Given the description of an element on the screen output the (x, y) to click on. 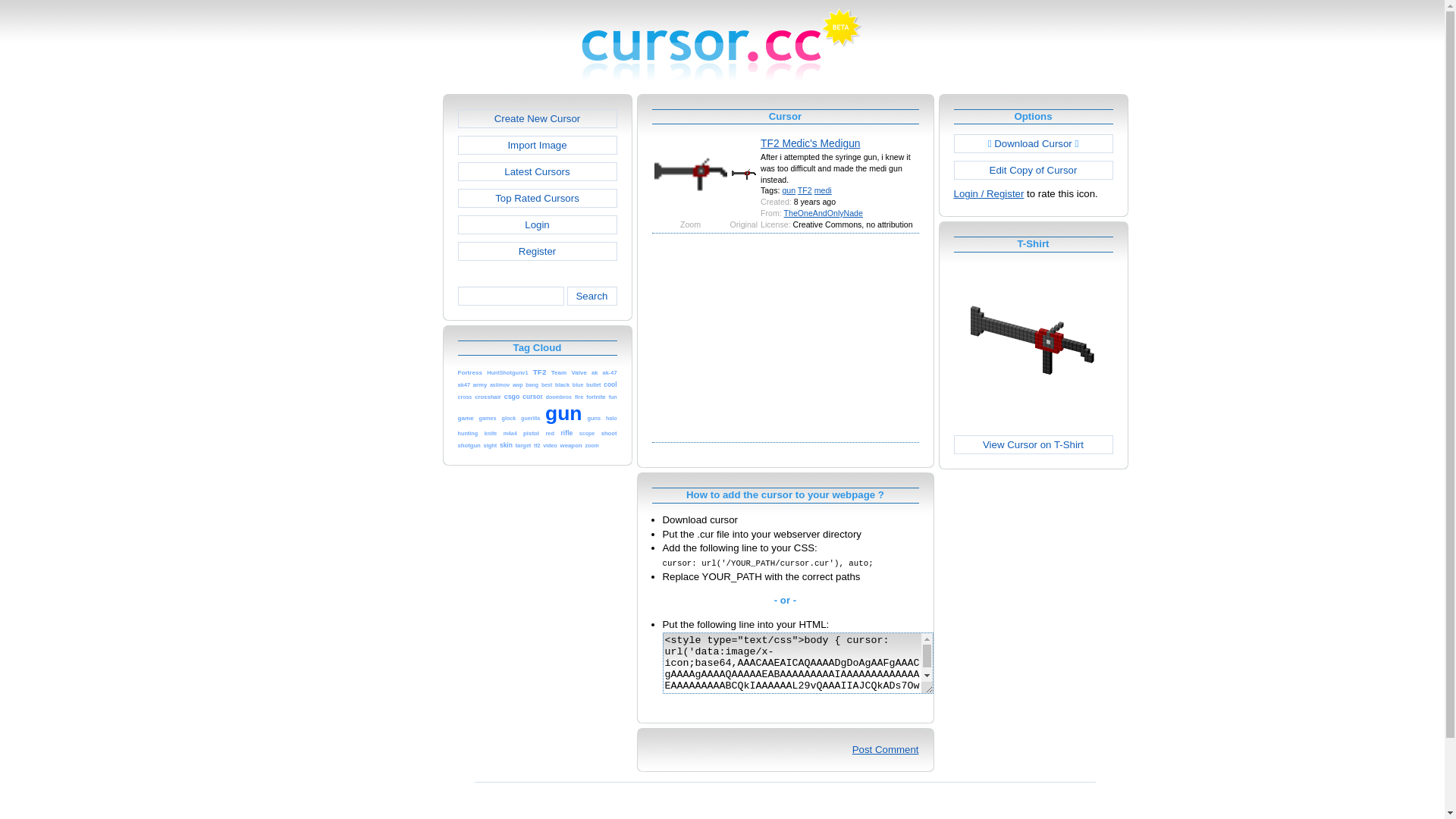
skin Element type: text (505, 443)
pistol Element type: text (531, 431)
HuntShotgunv1 Element type: text (506, 370)
m4a4 Element type: text (510, 431)
ak-47 Element type: text (609, 370)
red Element type: text (549, 431)
Import Image Element type: text (537, 144)
hunting Element type: text (468, 431)
TheOneAndOnlyNade Element type: text (823, 212)
rifle Element type: text (567, 431)
glock Element type: text (509, 416)
Team Element type: text (559, 370)
Search Element type: text (592, 295)
tf2 Element type: text (536, 443)
army Element type: text (479, 383)
shoot Element type: text (609, 431)
Fortress Element type: text (470, 370)
Login / Register Element type: text (988, 193)
scope Element type: text (586, 431)
Login Element type: text (537, 224)
fun Element type: text (612, 395)
weapon Element type: text (571, 443)
shotgun Element type: text (469, 443)
TF2 Element type: text (539, 370)
games Element type: text (487, 416)
asiimov Element type: text (499, 383)
fortnite Element type: text (595, 395)
Post Comment Element type: text (885, 749)
Advertisement Element type: hover (377, 321)
awp Element type: text (517, 383)
bullet Element type: text (593, 383)
Top Rated Cursors Element type: text (537, 197)
fire Element type: text (578, 395)
Advertisement Element type: hover (785, 336)
cursor Element type: text (532, 395)
guerilla Element type: text (529, 416)
View Cursor on T-Shirt Element type: text (1033, 444)
csgo Element type: text (512, 395)
TF2 Element type: text (804, 189)
best Element type: text (546, 383)
gun Element type: text (563, 416)
cool Element type: text (609, 383)
crosshair Element type: text (487, 395)
black Element type: text (562, 383)
bang Element type: text (531, 383)
blue Element type: text (577, 383)
TF2 Medic's Medigun Element type: text (809, 143)
Register Element type: text (537, 250)
Edit Copy of Cursor Element type: text (1033, 169)
guns Element type: text (593, 416)
ak47 Element type: text (464, 383)
cross Element type: text (465, 395)
game Element type: text (465, 416)
Latest Cursors Element type: text (537, 171)
Valve Element type: text (578, 370)
sight Element type: text (490, 443)
halo Element type: text (610, 416)
doombros Element type: text (558, 395)
Create New Cursor Element type: text (537, 118)
medi Element type: text (822, 189)
ak Element type: text (594, 370)
zoom Element type: text (591, 443)
gun Element type: text (788, 189)
video Element type: text (549, 443)
target Element type: text (523, 443)
knife Element type: text (490, 431)
